Given the description of an element on the screen output the (x, y) to click on. 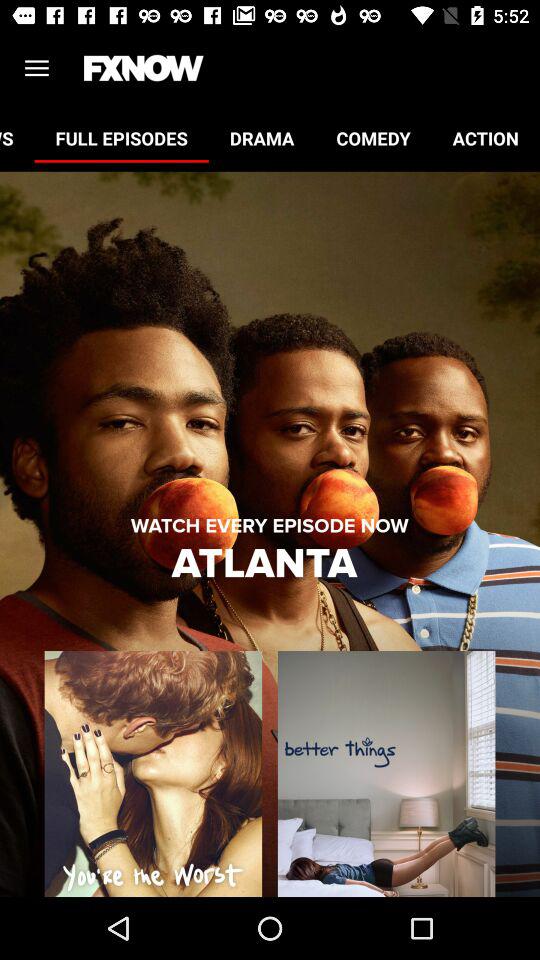
turn on all shows item (17, 138)
